Given the description of an element on the screen output the (x, y) to click on. 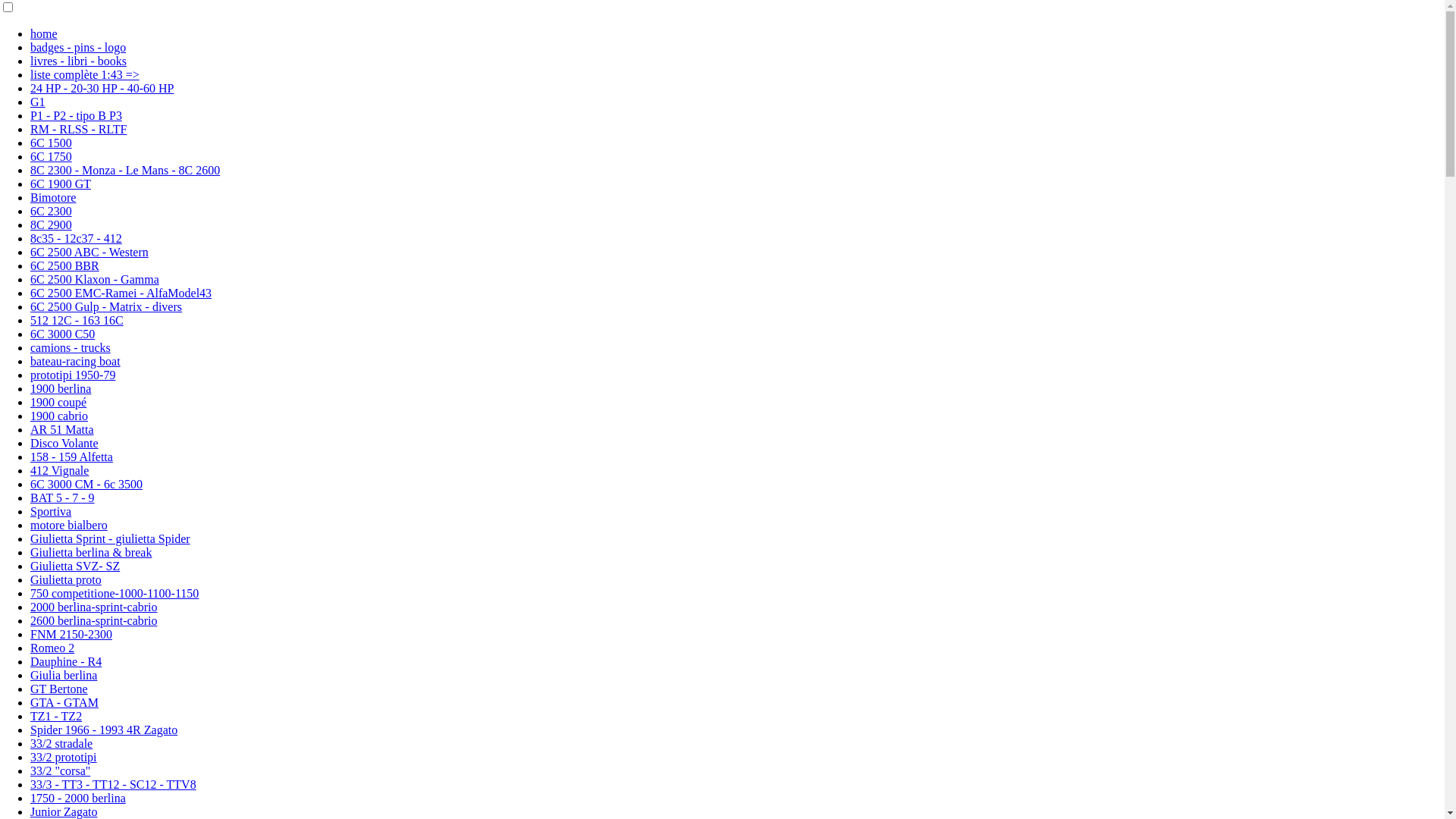
motore bialbero Element type: text (68, 524)
Sportiva Element type: text (50, 511)
33/2 "corsa" Element type: text (60, 770)
33/2 stradale Element type: text (61, 743)
24 HP - 20-30 HP - 40-60 HP Element type: text (101, 87)
Giulia berlina Element type: text (63, 674)
8c35 - 12c37 - 412 Element type: text (76, 238)
8C 2300 - Monza - Le Mans - 8C 2600 Element type: text (124, 169)
Dauphine - R4 Element type: text (65, 661)
badges - pins - logo Element type: text (77, 46)
1900 berlina Element type: text (60, 388)
livres - libri - books Element type: text (78, 60)
6C 1900 GT Element type: text (60, 183)
6C 2300 Element type: text (51, 210)
2000 berlina-sprint-cabrio Element type: text (93, 606)
1750 - 2000 berlina Element type: text (77, 797)
FNM 2150-2300 Element type: text (71, 633)
512 12C - 163 16C Element type: text (76, 319)
Giulietta berlina & break Element type: text (90, 552)
2600 berlina-sprint-cabrio Element type: text (93, 620)
camions - trucks Element type: text (70, 347)
33/2 prototipi Element type: text (63, 756)
6C 2500 Gulp - Matrix - divers Element type: text (106, 306)
Junior Zagato Element type: text (63, 811)
RM - RLSS - RLTF Element type: text (78, 128)
Giulietta Sprint - giulietta Spider Element type: text (110, 538)
Giulietta proto Element type: text (65, 579)
Bimotore Element type: text (52, 197)
6C 2500 Klaxon - Gamma Element type: text (94, 279)
1900 cabrio Element type: text (58, 415)
33/3 - TT3 - TT12 - SC12 - TTV8 Element type: text (113, 784)
158 - 159 Alfetta Element type: text (71, 456)
6C 3000 C50 Element type: text (62, 333)
AR 51 Matta Element type: text (62, 429)
6C 2500 EMC-Ramei - AlfaModel43 Element type: text (120, 292)
8C 2900 Element type: text (51, 224)
Giulietta SVZ- SZ Element type: text (74, 565)
412 Vignale Element type: text (59, 470)
GTA - GTAM Element type: text (64, 702)
Romeo 2 Element type: text (52, 647)
750 competitione-1000-1100-1150 Element type: text (114, 592)
bateau-racing boat Element type: text (75, 360)
6C 3000 CM - 6c 3500 Element type: text (86, 483)
Spider 1966 - 1993 4R Zagato Element type: text (103, 729)
Disco Volante Element type: text (64, 442)
6C 2500 BBR Element type: text (64, 265)
BAT 5 - 7 - 9 Element type: text (62, 497)
TZ1 - TZ2 Element type: text (55, 715)
home Element type: text (43, 33)
prototipi 1950-79 Element type: text (72, 374)
6C 1500 Element type: text (51, 142)
P1 - P2 - tipo B P3 Element type: text (76, 115)
6C 2500 ABC - Western Element type: text (89, 251)
G1 Element type: text (37, 101)
6C 1750 Element type: text (51, 156)
GT Bertone Element type: text (58, 688)
